Given the description of an element on the screen output the (x, y) to click on. 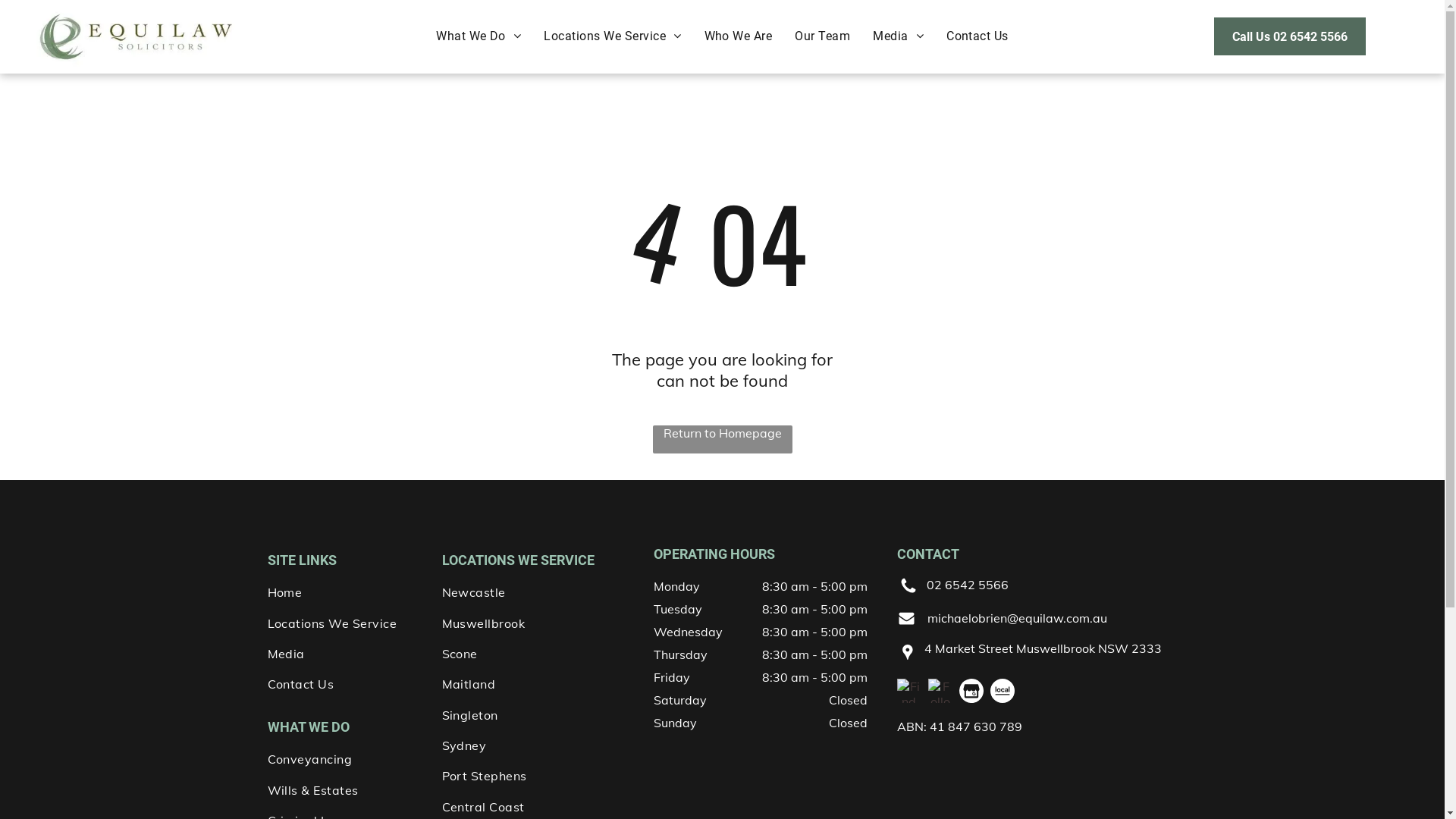
Follow Us On Instagram Element type: hover (940, 690)
Our Team Element type: text (822, 35)
4 Market Street Muswellbrook NSW 2333 Element type: text (1042, 647)
Who We Are Element type: text (738, 35)
Media Element type: text (898, 35)
Scone Element type: text (540, 653)
Sydney Element type: text (540, 745)
Return to Homepage Element type: text (721, 439)
Conveyancing Element type: text (342, 758)
02 6542 5566 Element type: text (967, 584)
Singleton Element type: text (540, 714)
www.localsearch.com.au Element type: hover (1002, 690)
Locations We Service Element type: text (612, 35)
Maitland Element type: text (540, 683)
Find Us On GMB Element type: hover (970, 690)
Media Element type: text (342, 653)
michaelobrien@equilaw.com.au Element type: text (1016, 617)
Locations We Service Element type: text (342, 622)
Home Element type: text (342, 592)
Muswellbrook Element type: text (540, 622)
Port Stephens Element type: text (540, 775)
Contact Us Element type: text (342, 683)
Call Us 02 6542 5566 Element type: text (1289, 36)
Equilaw Solicitors: Local Solicitors in the Hunter Valley Element type: hover (135, 36)
What We Do Element type: text (478, 35)
Newcastle Element type: text (540, 592)
Wills & Estates Element type: text (342, 789)
Find Us On Facebook Element type: hover (908, 690)
Contact Us Element type: text (977, 35)
